Given the description of an element on the screen output the (x, y) to click on. 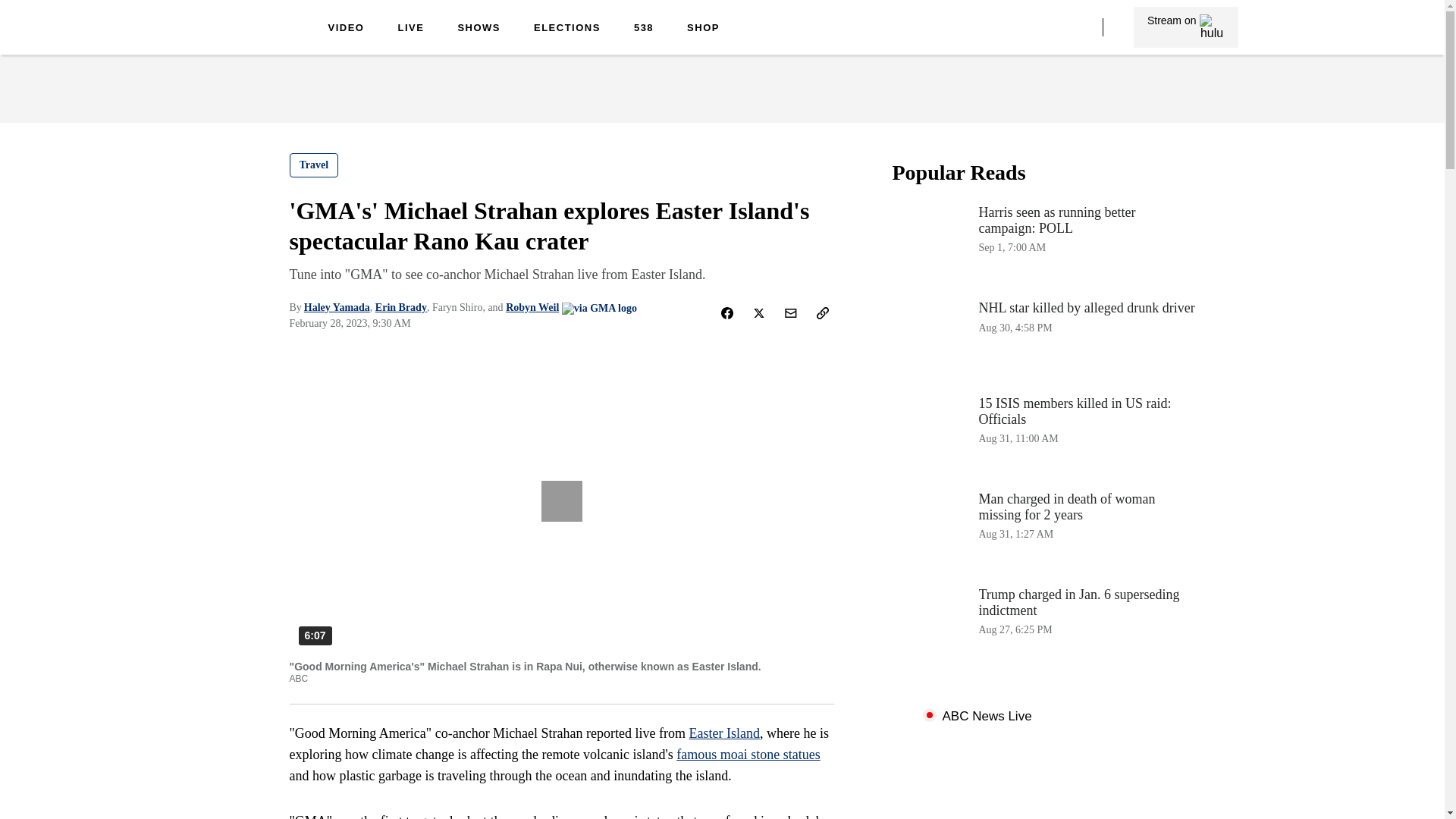
Easter Island (724, 733)
VIDEO (345, 28)
LIVE (410, 28)
Haley Yamada (336, 307)
Stream on (1186, 26)
ABC News (250, 38)
Stream on (1185, 27)
famous moai stone statues (748, 754)
